Given the description of an element on the screen output the (x, y) to click on. 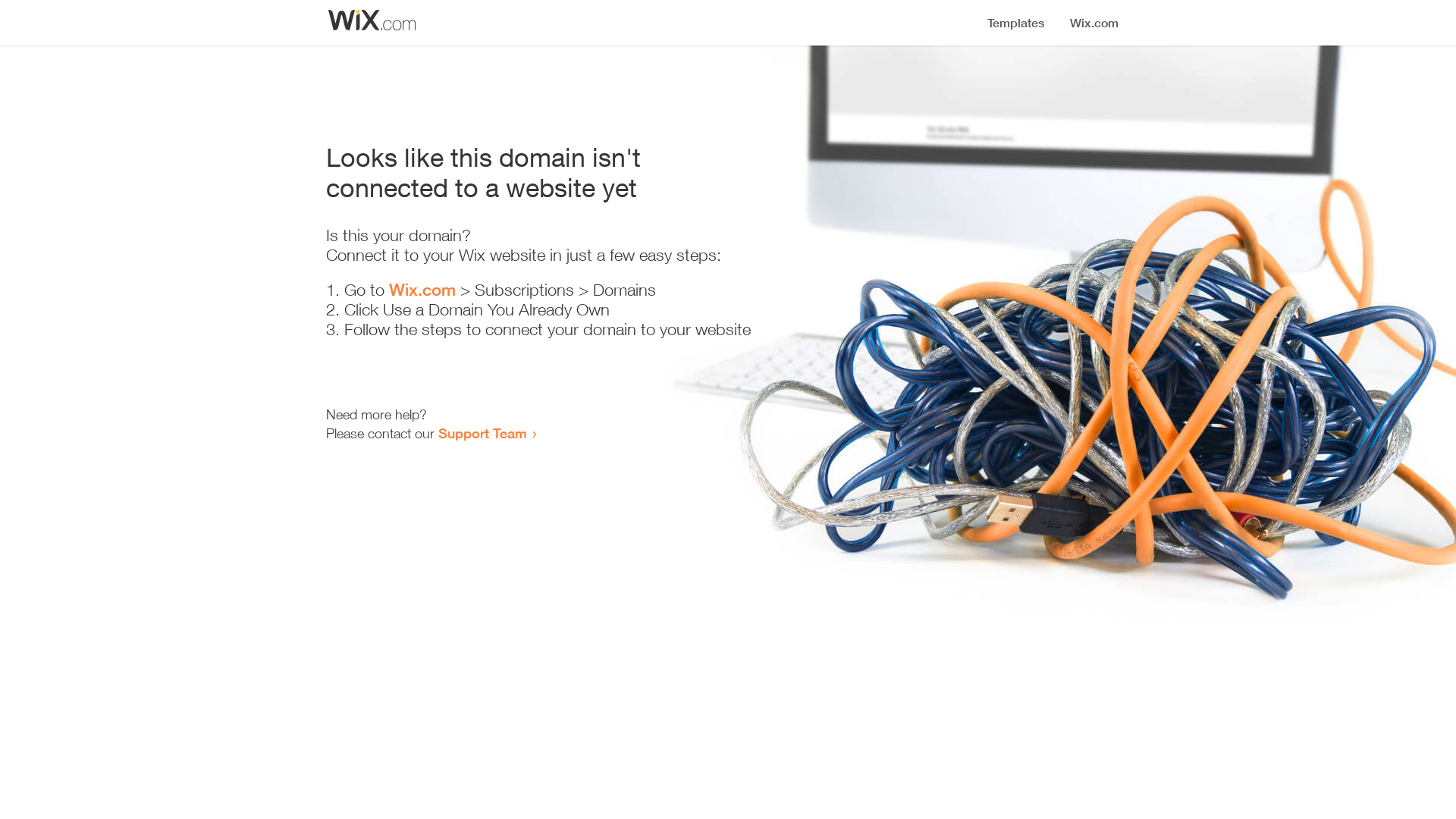
Wix.com Element type: text (422, 289)
Support Team Element type: text (482, 432)
